Given the description of an element on the screen output the (x, y) to click on. 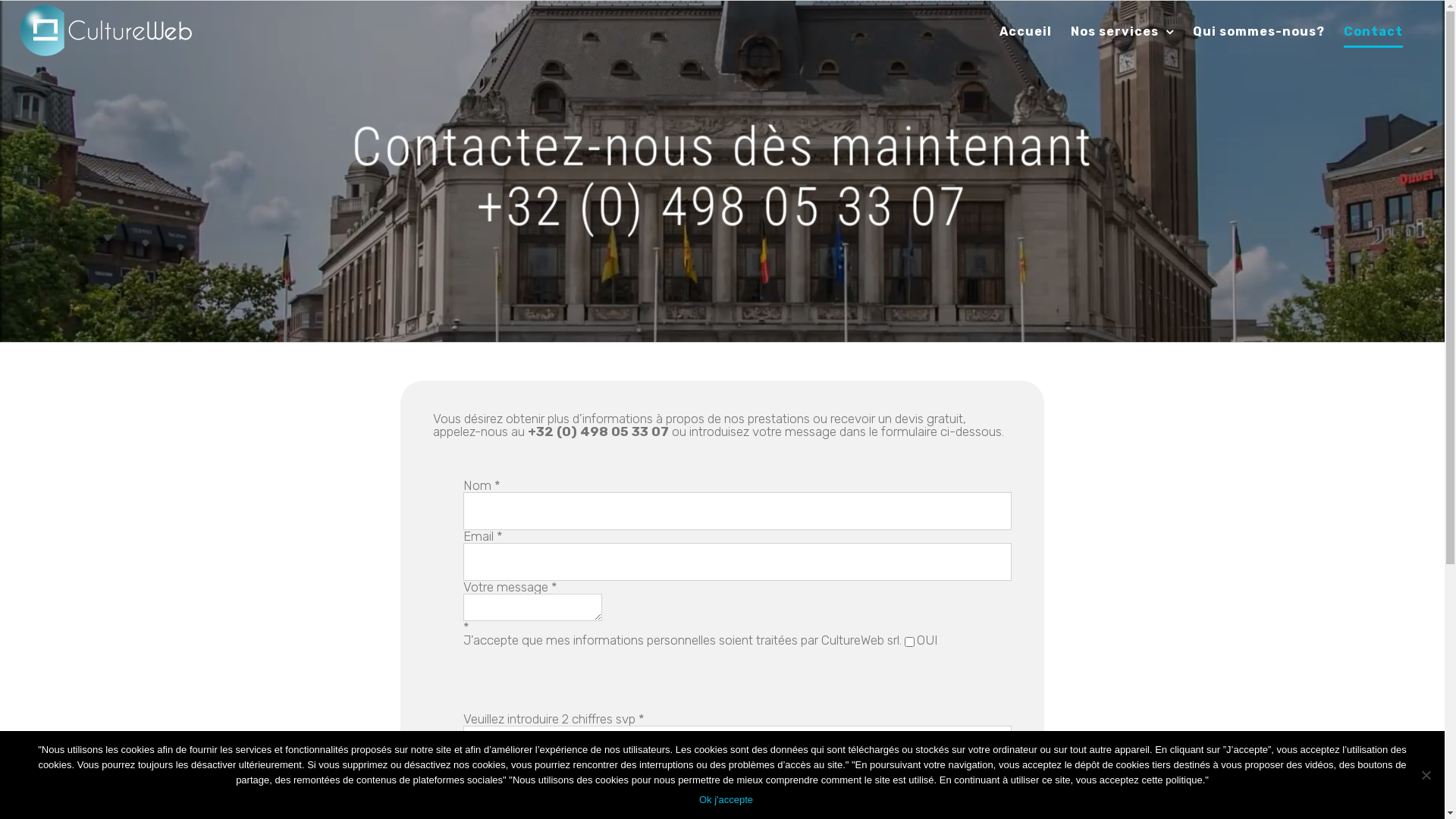
Envoyer Element type: text (488, 784)
Accueil Element type: text (1025, 31)
Qui sommes-nous? Element type: text (1258, 31)
Ok j'accepte Element type: text (726, 799)
Contact Element type: text (1372, 31)
No Element type: hover (1425, 774)
Nos services Element type: text (1121, 31)
